Given the description of an element on the screen output the (x, y) to click on. 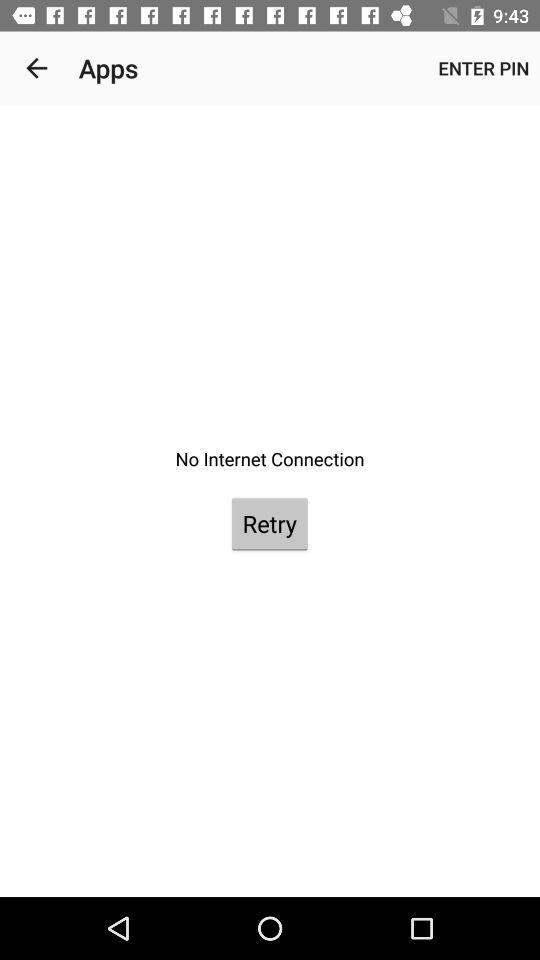
launch app next to apps (36, 68)
